Given the description of an element on the screen output the (x, y) to click on. 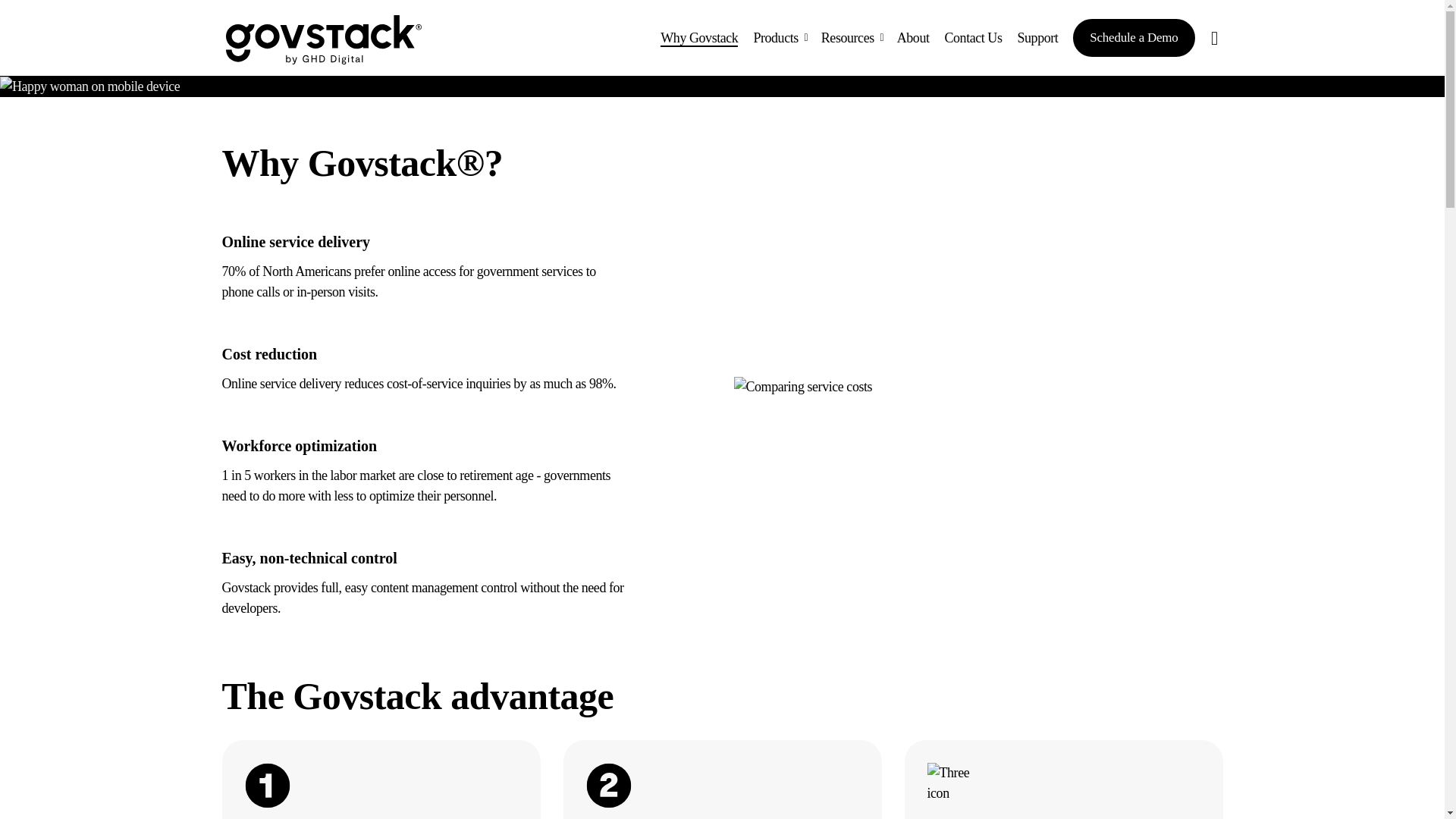
Govstack (323, 39)
Contact Us (972, 38)
Resources (851, 38)
Schedule a Demo (1133, 37)
Why Govstack (698, 38)
Products (778, 38)
